Given the description of an element on the screen output the (x, y) to click on. 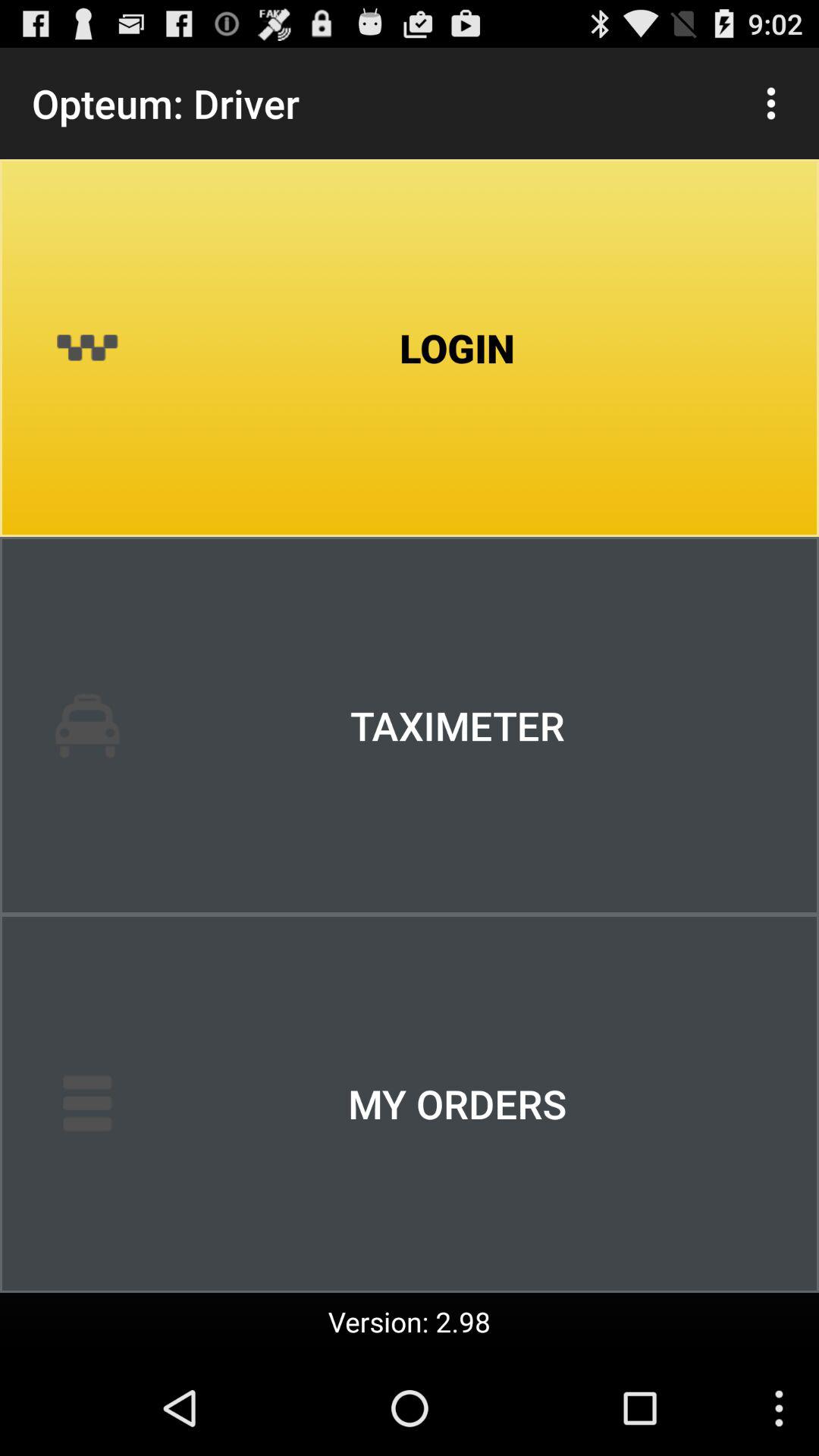
launch login at the top (409, 347)
